Given the description of an element on the screen output the (x, y) to click on. 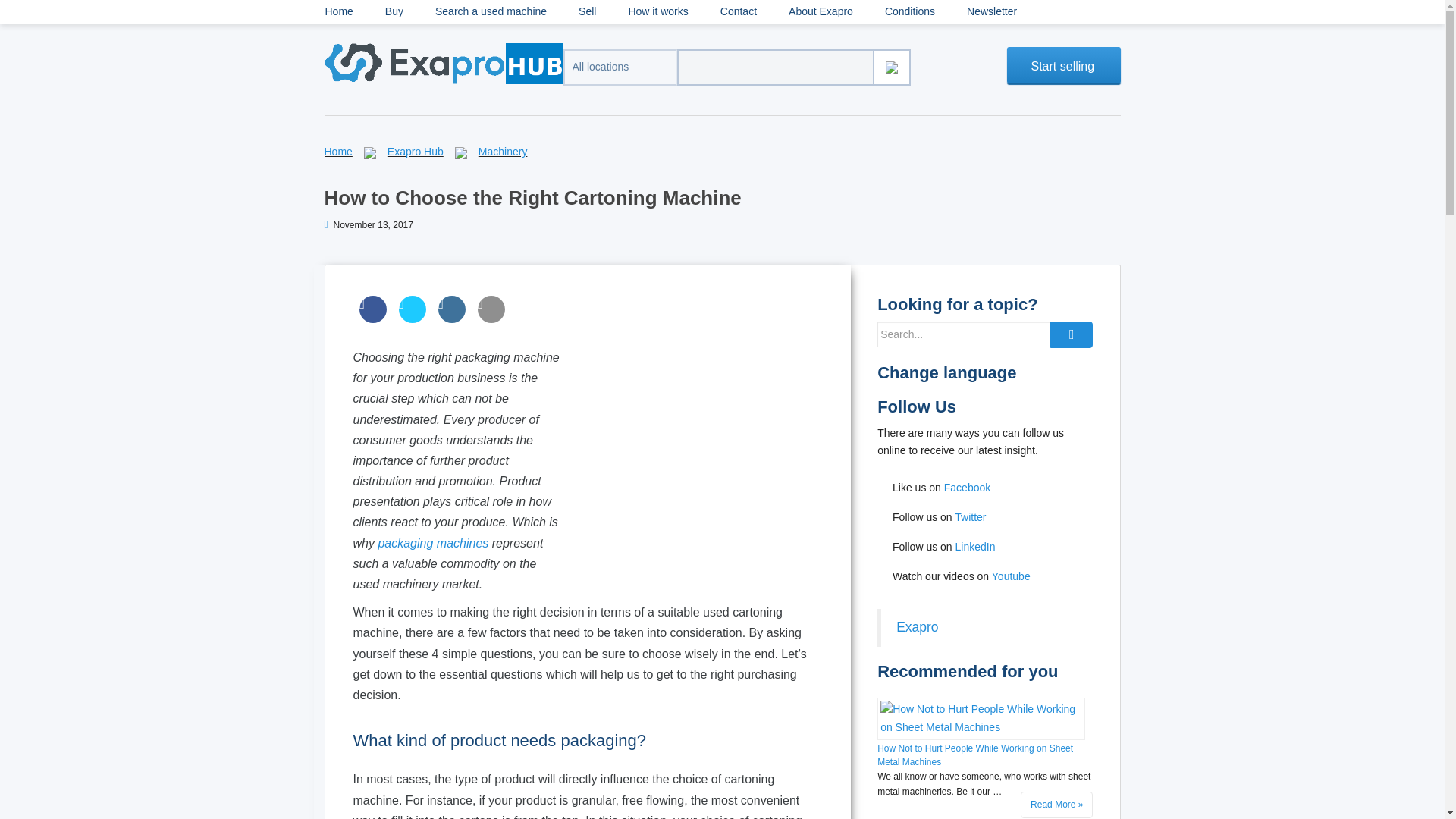
Start selling (1064, 64)
Home (338, 151)
Home (338, 151)
Conditions (909, 12)
Buy (394, 12)
Home (338, 12)
Newsletter (991, 12)
About Exapro (821, 12)
Sell (586, 12)
Sell (586, 12)
